Given the description of an element on the screen output the (x, y) to click on. 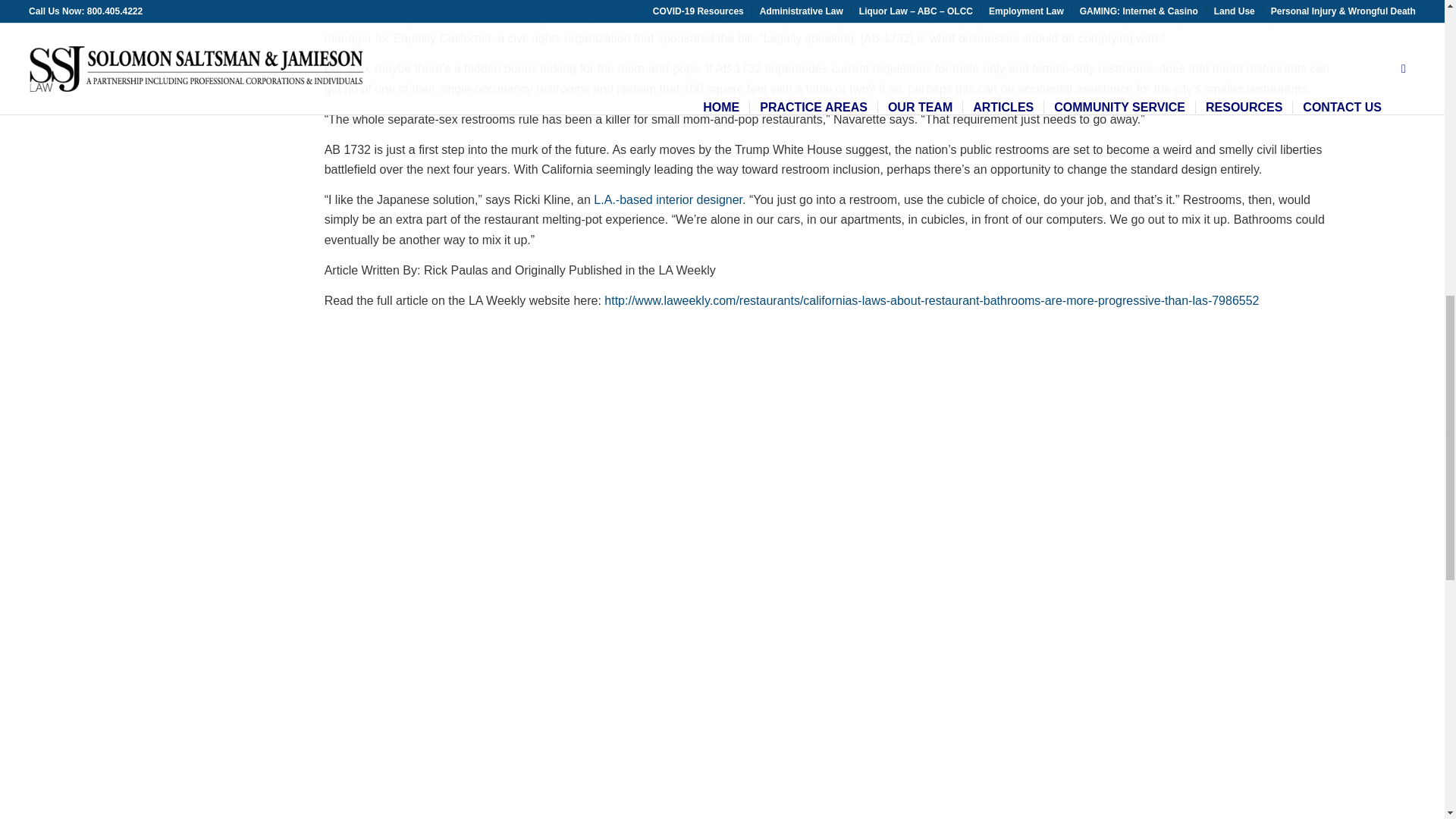
L.A.-based interior designer (668, 199)
